Given the description of an element on the screen output the (x, y) to click on. 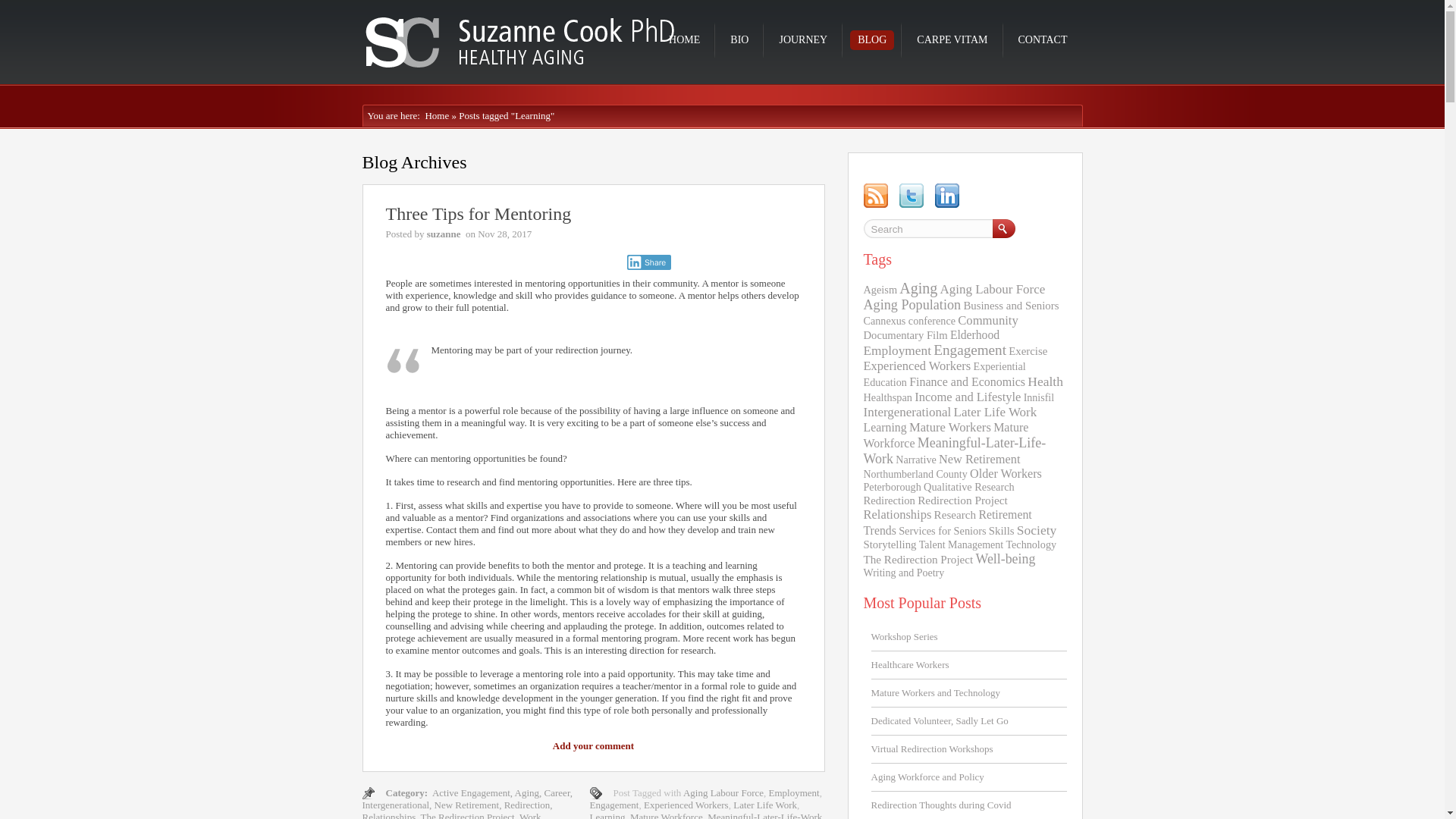
The Redirection Project (467, 815)
Engagement (614, 804)
Redirection (526, 804)
View all posts in Work (530, 815)
Three Tips for Mentoring (477, 213)
BIO (738, 39)
CARPE VITAM (951, 39)
Add your comment (593, 745)
Add your comment (593, 745)
Relationships (389, 815)
  Home (434, 115)
View all posts in Intergenerational (395, 804)
Aging Labour Force (722, 792)
View all posts in New Retirement (466, 804)
Permanent Link to Three Tips for Mentoring (477, 213)
